Given the description of an element on the screen output the (x, y) to click on. 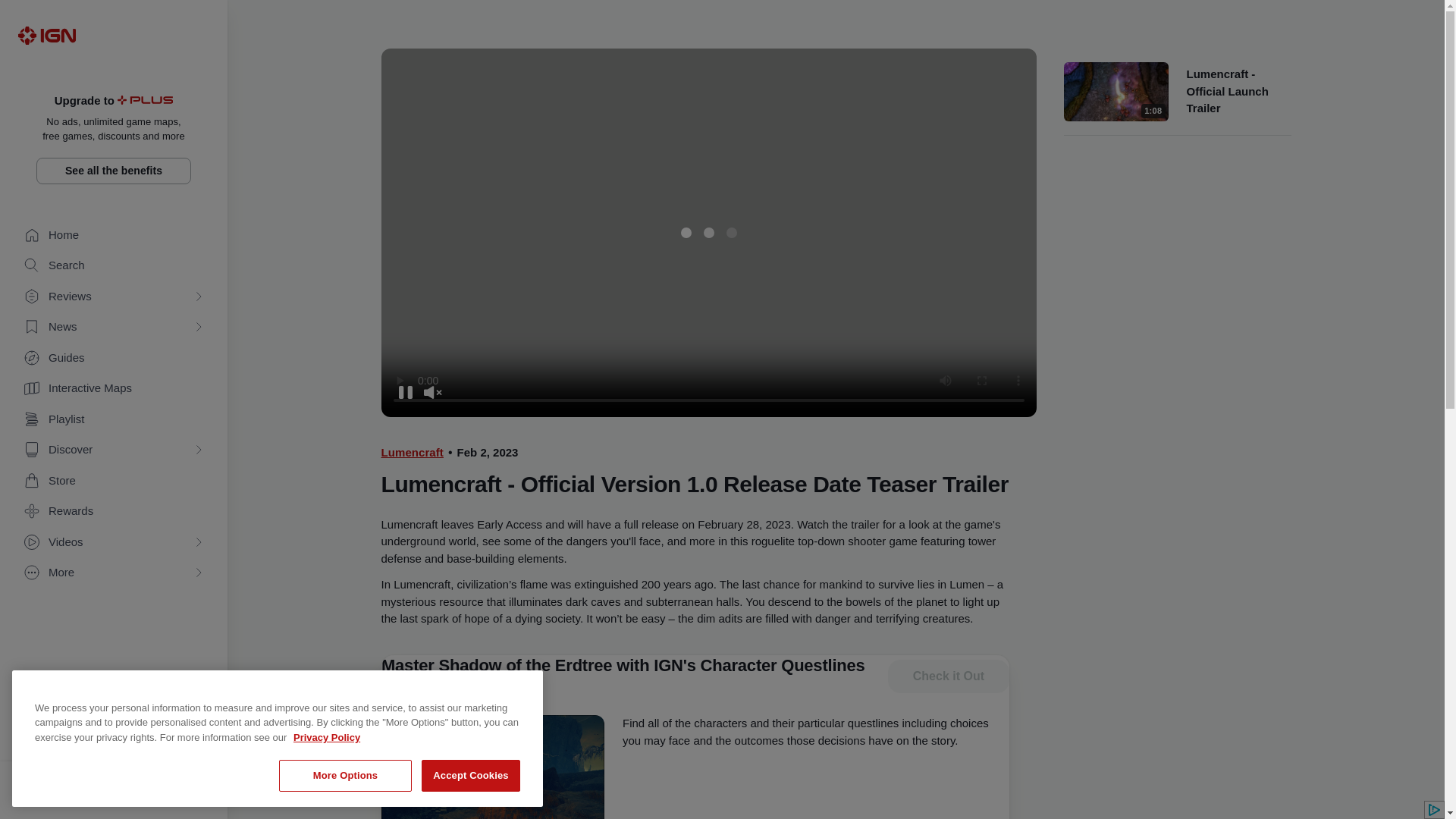
IGN Logo (46, 35)
Reviews (113, 296)
Reviews (113, 296)
Playlist (113, 419)
Discover (113, 449)
Search (113, 265)
IGN Logo (46, 34)
IGN (46, 35)
Videos (113, 542)
Guides (113, 357)
Playlist (113, 419)
More (113, 572)
Home (113, 234)
Interactive Maps (113, 388)
See all the benefits (113, 171)
